Given the description of an element on the screen output the (x, y) to click on. 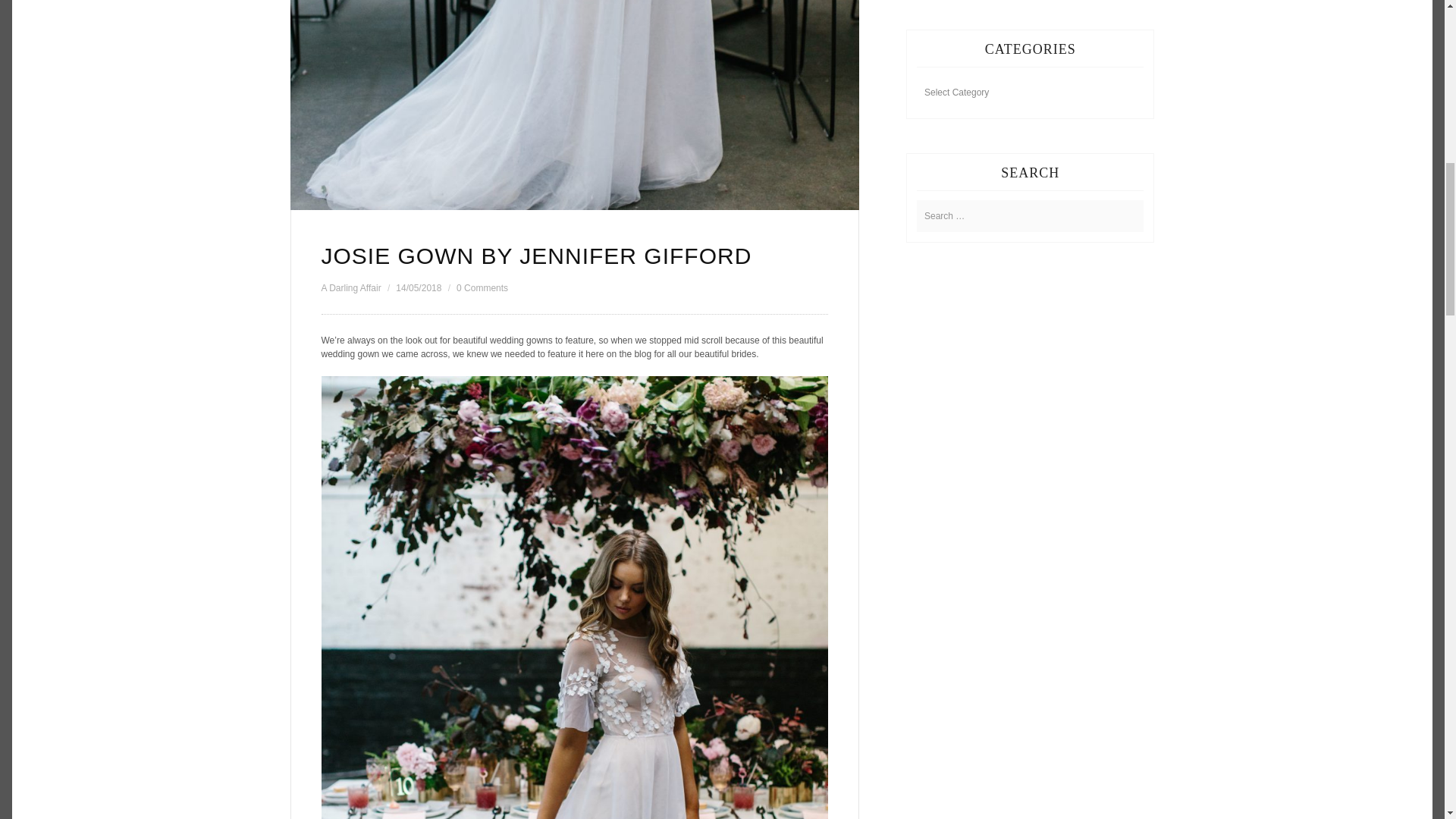
JOSIE GOWN BY JENNIFER GIFFORD (536, 255)
A Darling Affair (351, 287)
Posts by A Darling Affair (351, 287)
0 Comments (482, 287)
